Given the description of an element on the screen output the (x, y) to click on. 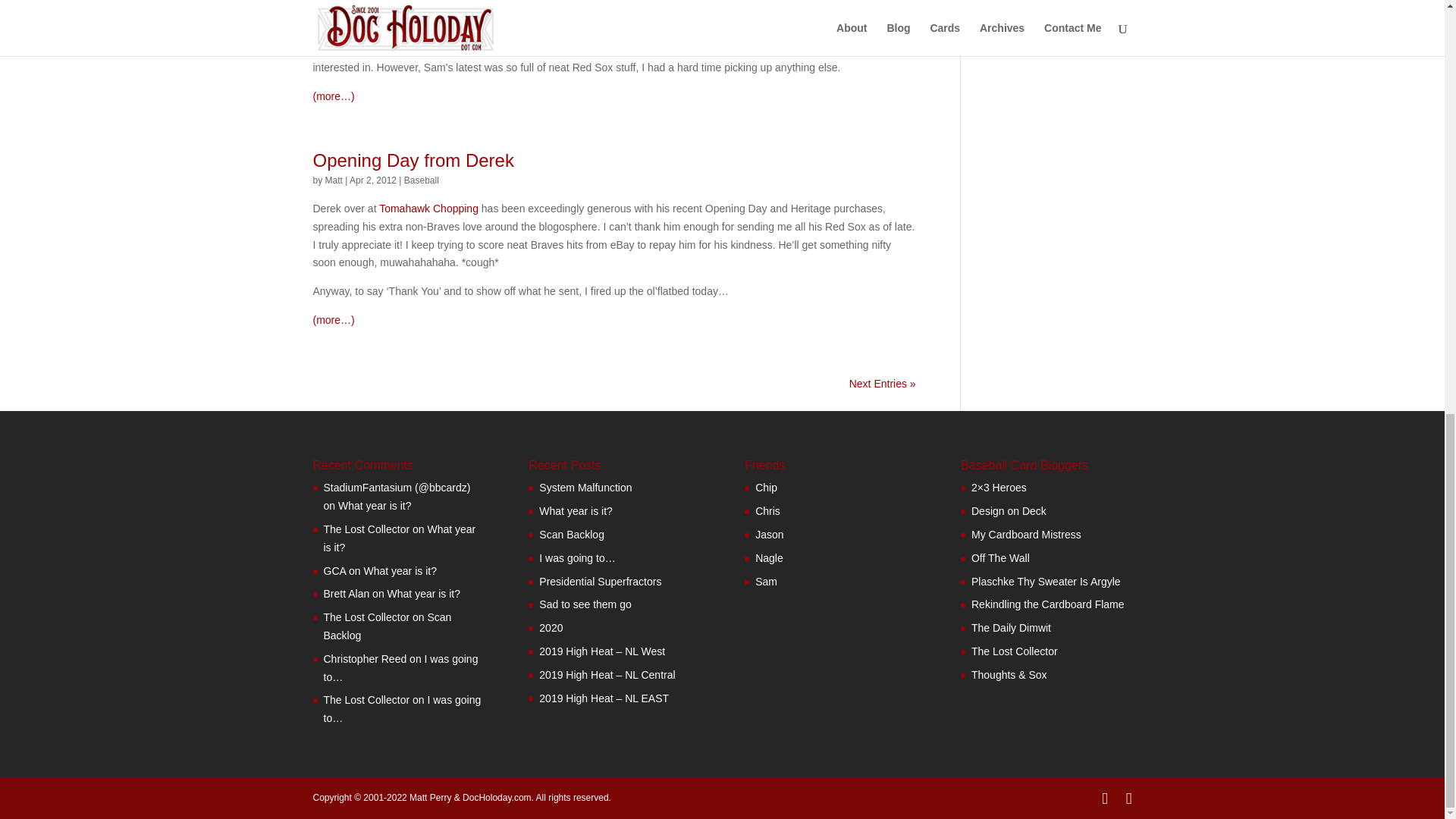
Baseball (421, 179)
Posts by Matt (333, 179)
Matt (333, 179)
Tomahawk Chopping (428, 208)
The Daily Dimwit (766, 581)
Opening Day from Derek (413, 159)
